Given the description of an element on the screen output the (x, y) to click on. 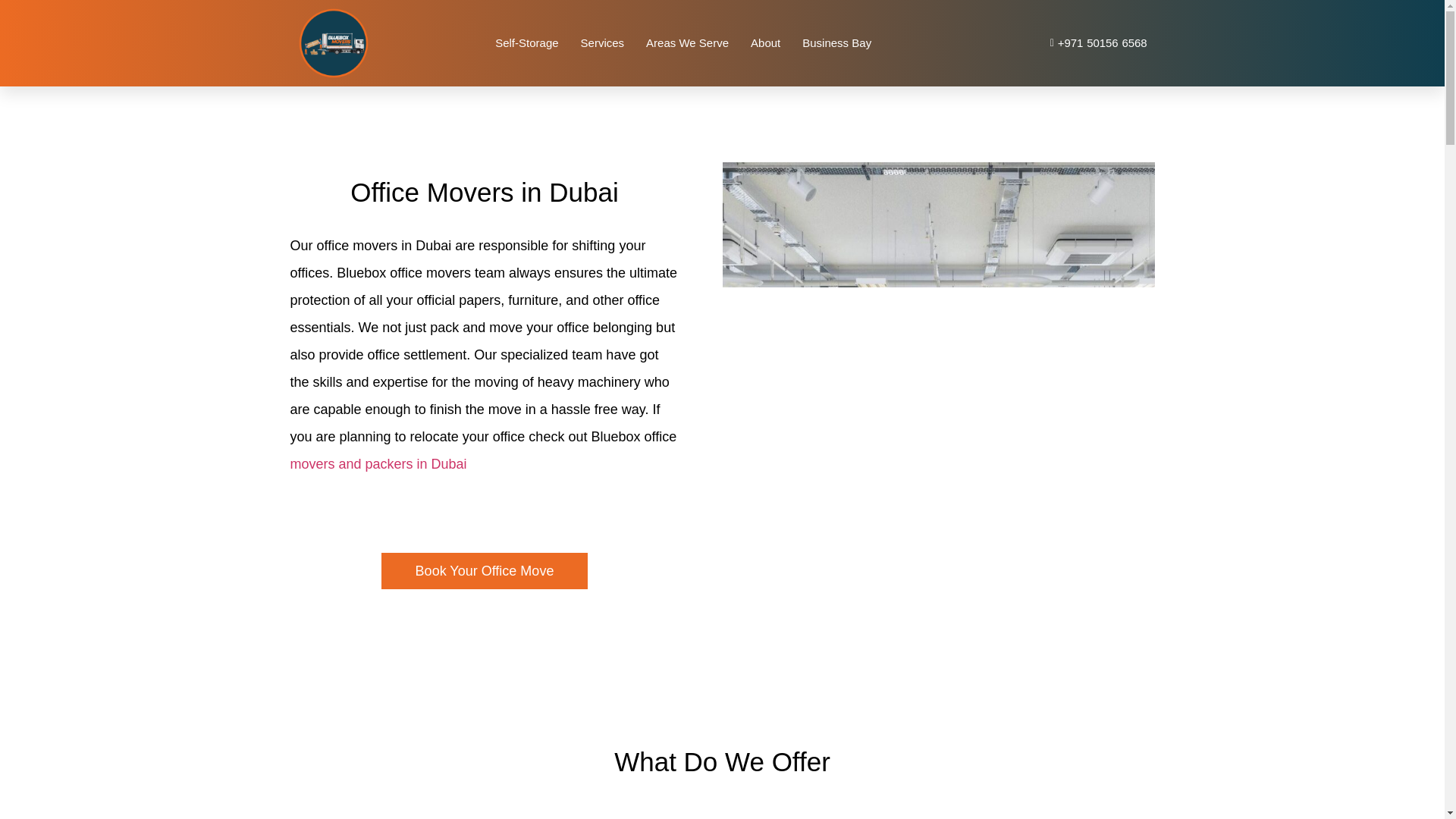
Areas We Serve (687, 43)
Self-Storage (526, 43)
Services (602, 43)
